Given the description of an element on the screen output the (x, y) to click on. 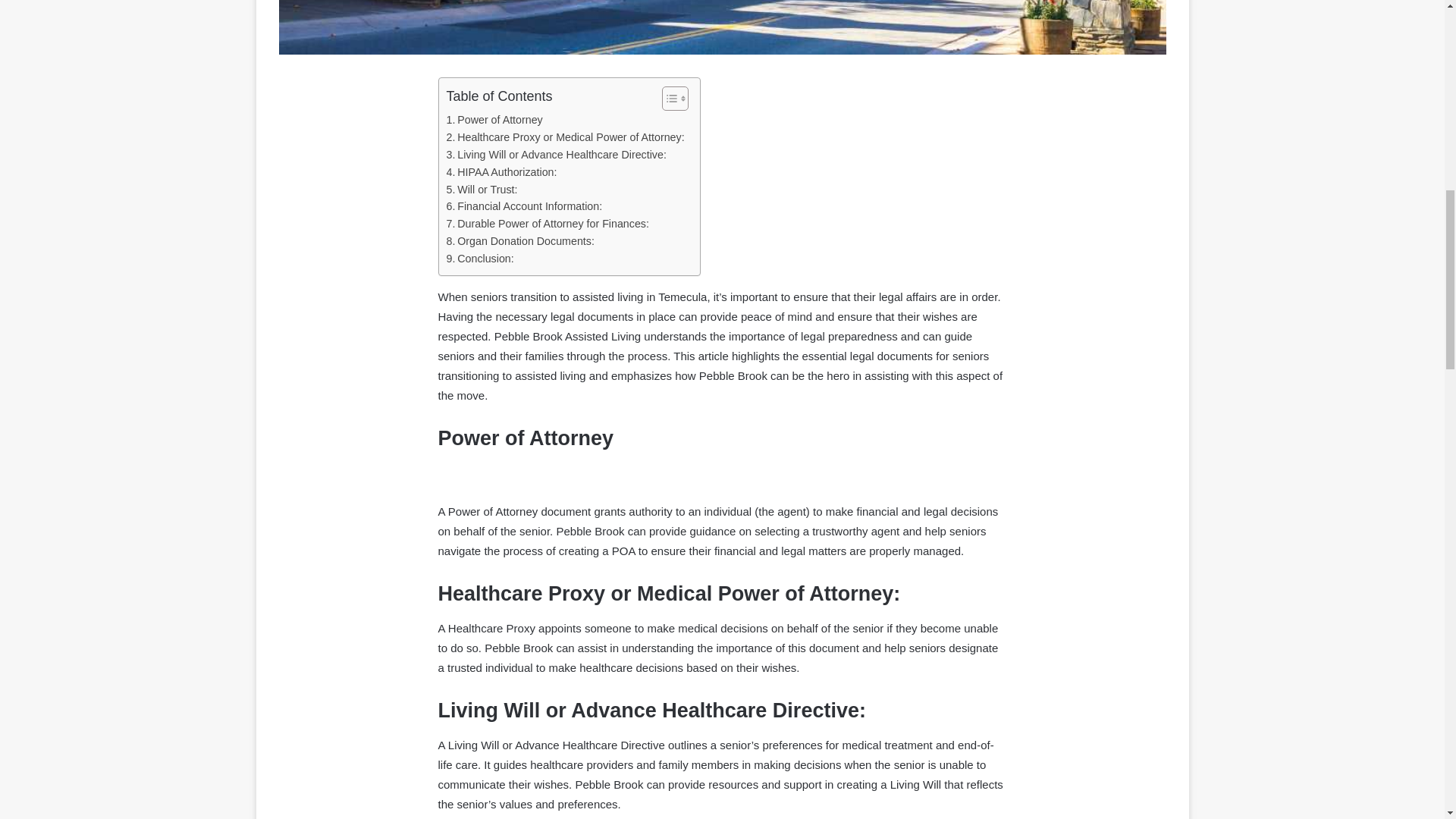
Durable Power of Attorney for Finances: (546, 223)
Organ Donation Documents: (519, 241)
Durable Power of Attorney for Finances: (546, 223)
Financial Account Information: (523, 206)
Healthcare Proxy or Medical Power of Attorney: (564, 137)
Conclusion: (479, 258)
Power of Attorney (493, 119)
Living Will or Advance Healthcare Directive: (555, 154)
HIPAA Authorization: (500, 171)
Will or Trust: (480, 189)
Will or Trust: (480, 189)
Conclusion: (479, 258)
Organ Donation Documents: (519, 241)
HIPAA Authorization: (500, 171)
Financial Account Information: (523, 206)
